Given the description of an element on the screen output the (x, y) to click on. 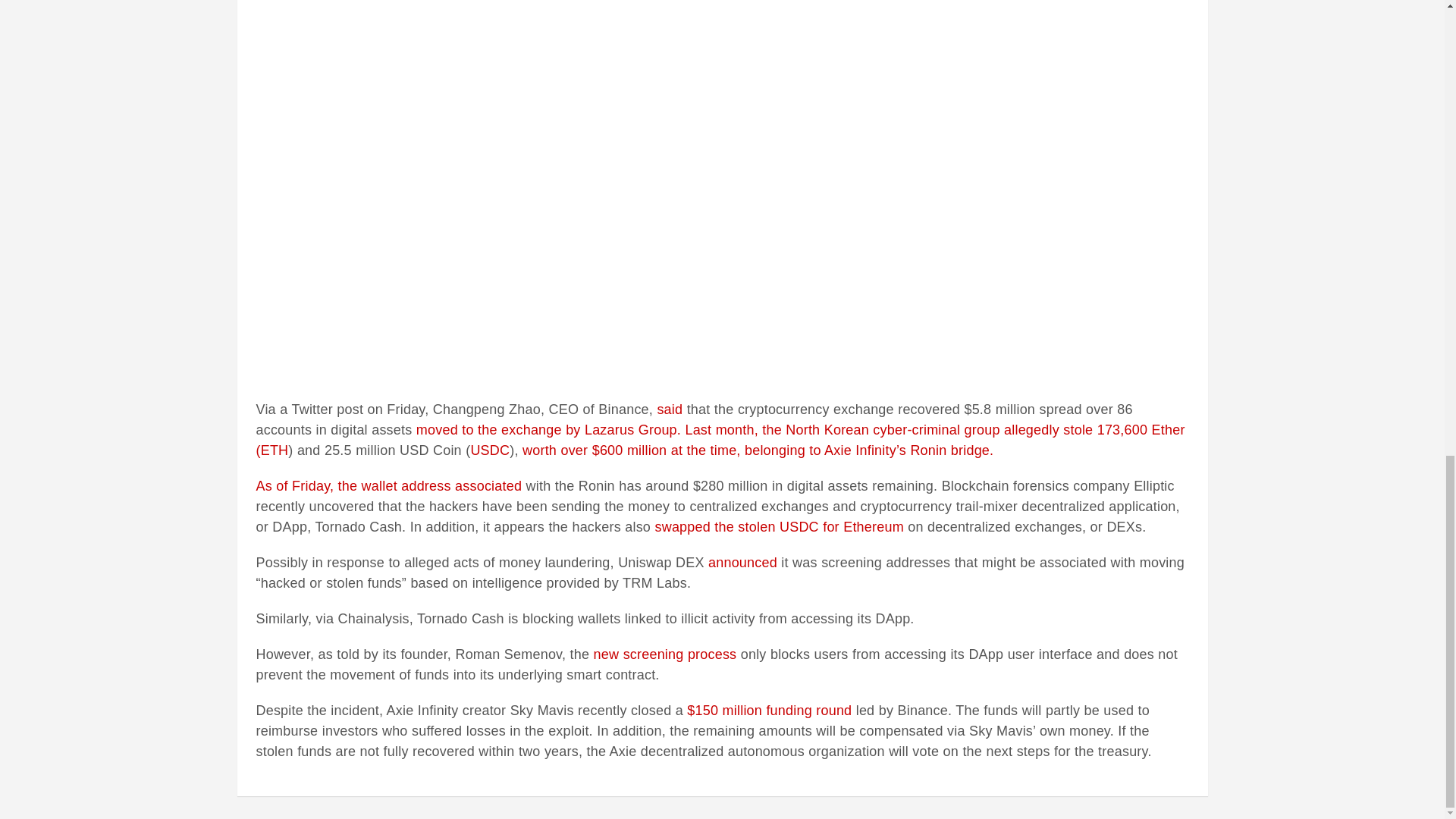
announced (742, 562)
moved to the exchange by Lazarus Group (546, 429)
said (669, 409)
new screening process (665, 654)
associated (487, 485)
As of Friday, the wallet address (355, 485)
USDC (489, 450)
swapped the stolen USDC for Ethereum (777, 526)
ETH (274, 450)
